Given the description of an element on the screen output the (x, y) to click on. 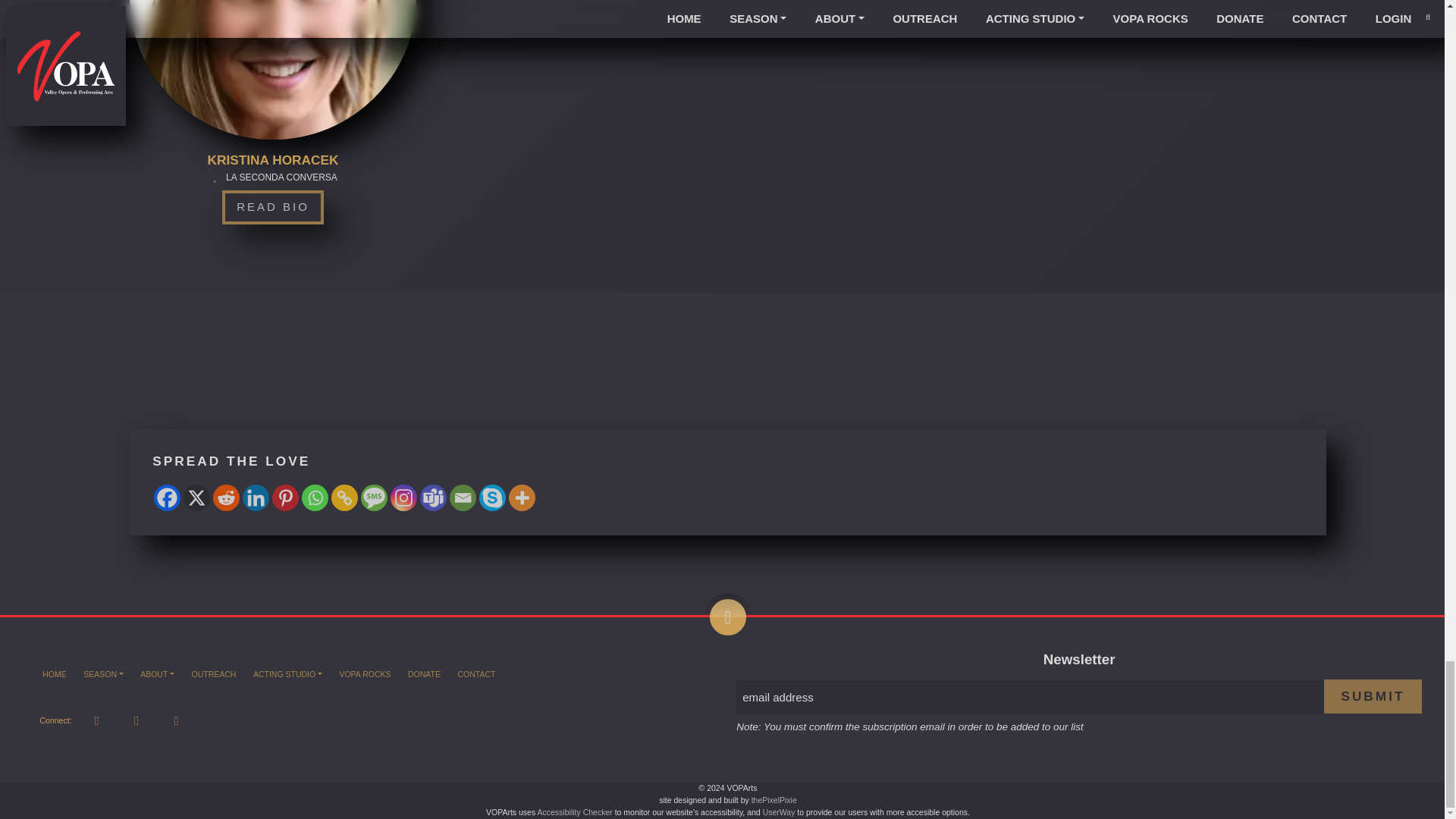
Copy Link (344, 497)
Skype (492, 497)
Instagram (403, 497)
Linkedin (256, 497)
Pinterest (285, 497)
Facebook (167, 497)
SMS (374, 497)
Email (462, 497)
Reddit (226, 497)
X (196, 497)
